Given the description of an element on the screen output the (x, y) to click on. 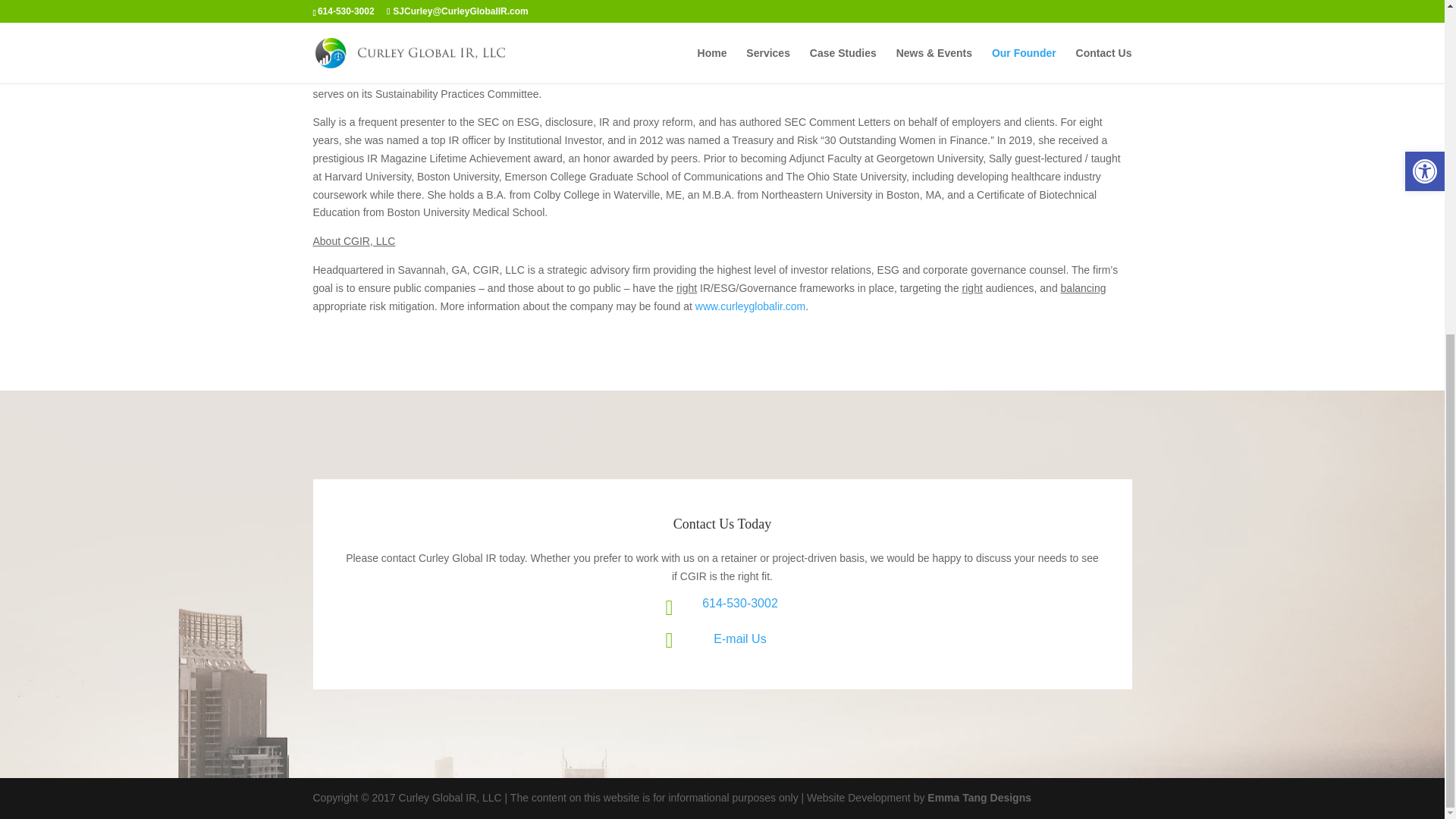
614-530-3002 (739, 603)
www.curleyglobalir.com (750, 306)
E-mail Us (739, 638)
Emma Tang Designs (978, 797)
